Given the description of an element on the screen output the (x, y) to click on. 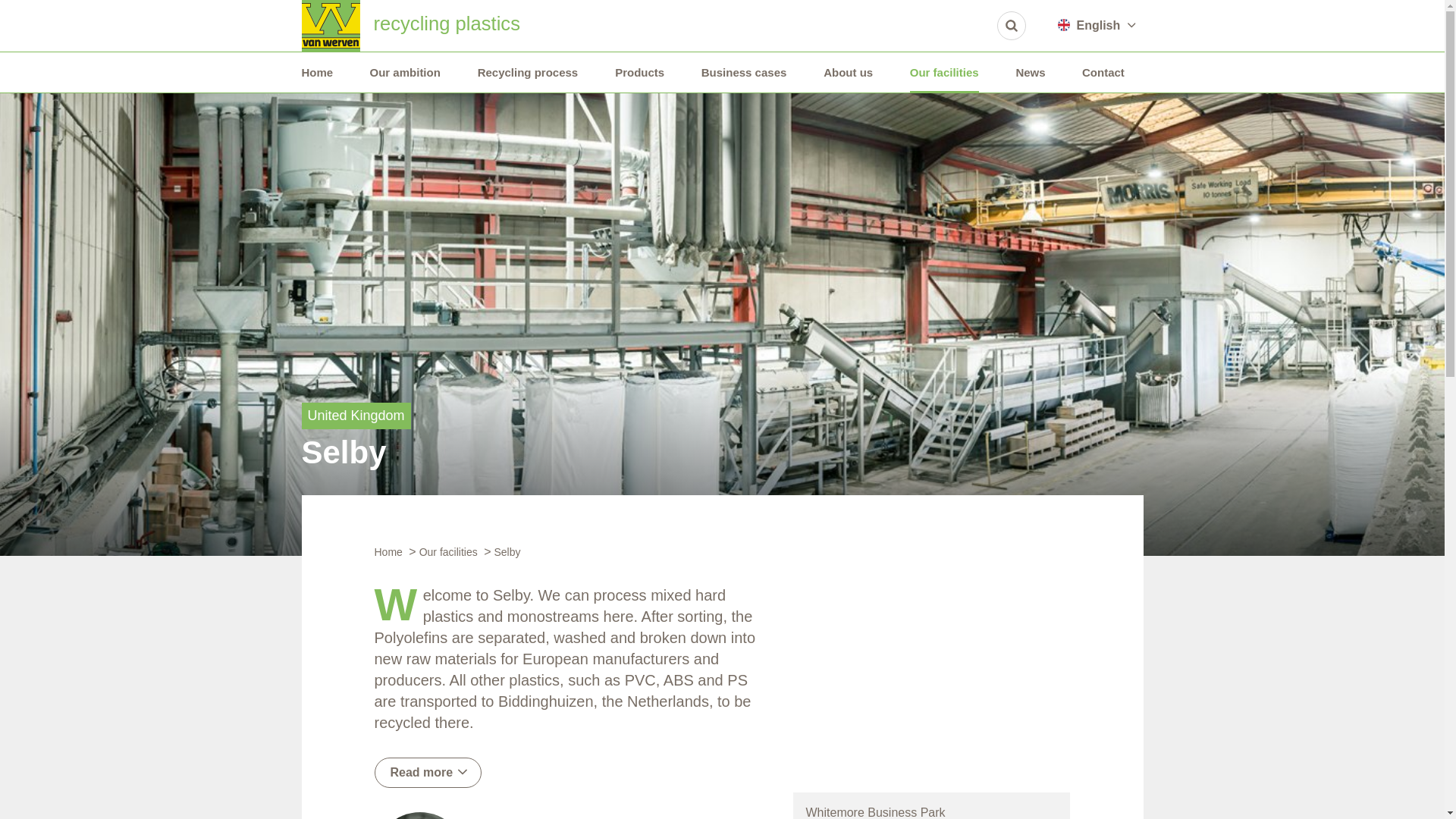
About us (848, 72)
Our facilities (448, 552)
News (1029, 72)
Home (317, 72)
Our facilities (944, 72)
Search (1011, 25)
Selby (506, 552)
Recycling process (527, 72)
Read more (427, 772)
Our ambition (405, 72)
recycling plastics (330, 25)
Products (638, 72)
Contact (1102, 72)
Business cases (744, 72)
Selecteer een taal (1097, 25)
